Given the description of an element on the screen output the (x, y) to click on. 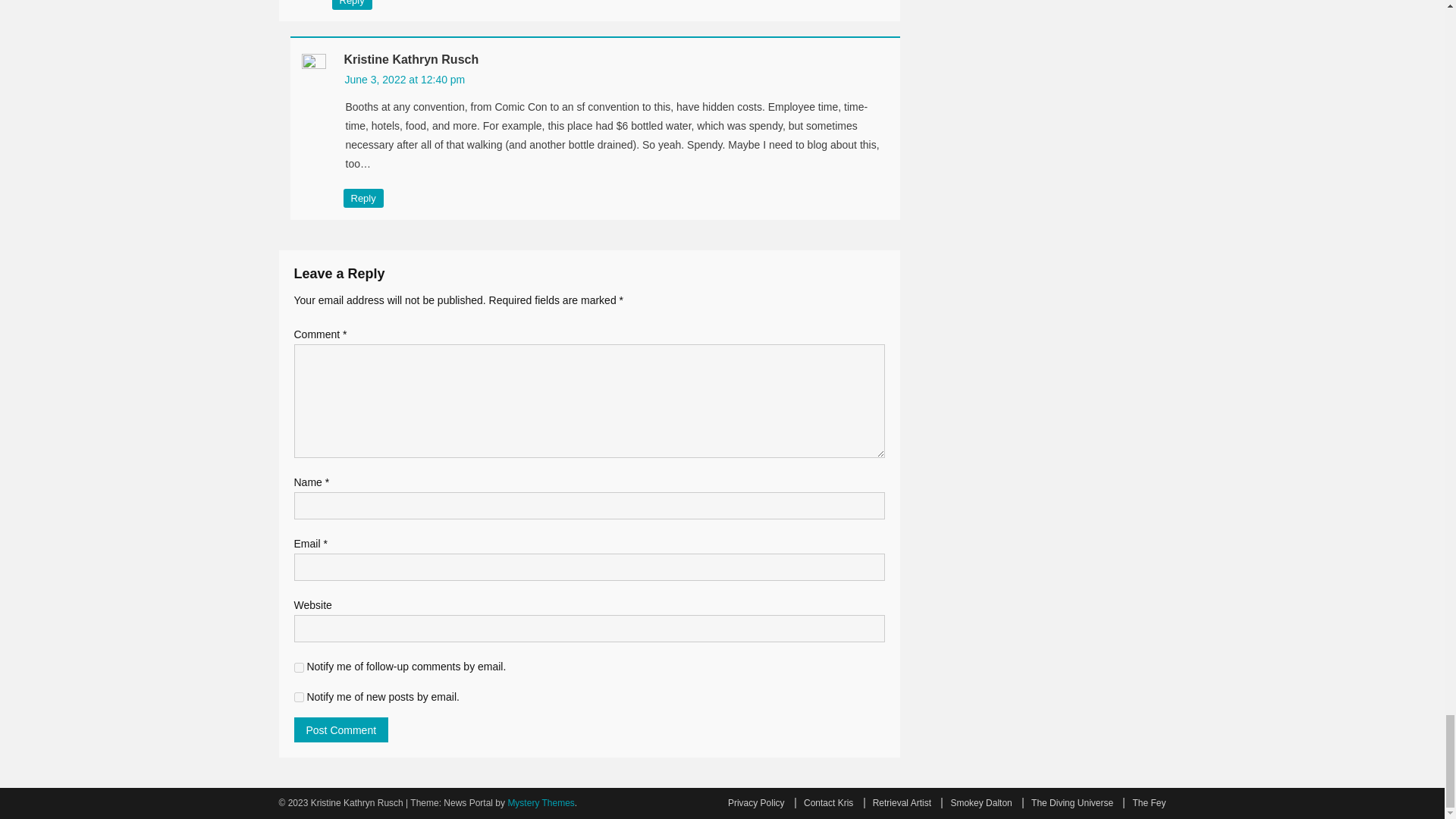
Post Comment (341, 729)
subscribe (299, 696)
subscribe (299, 667)
